Given the description of an element on the screen output the (x, y) to click on. 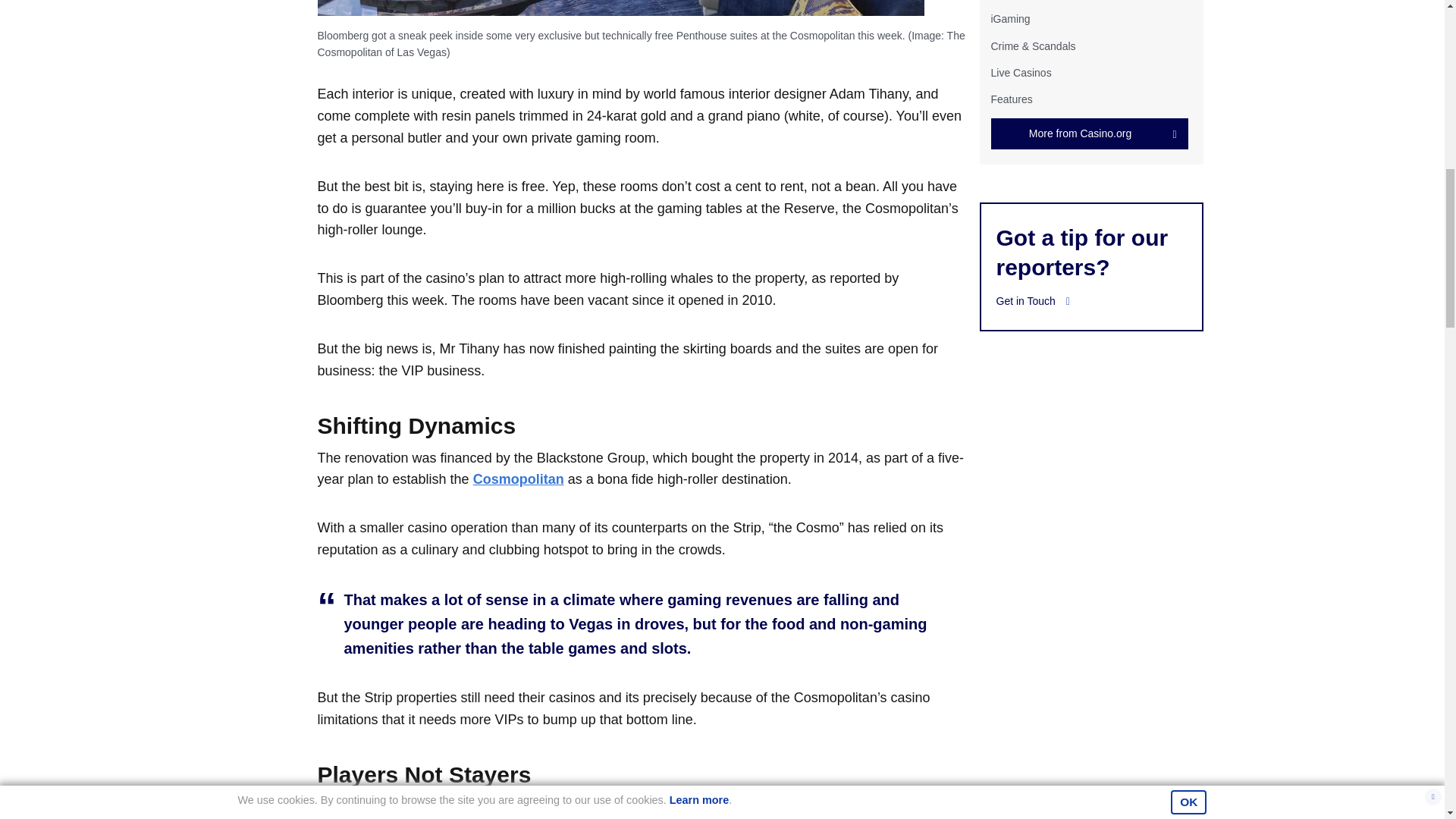
Live Casinos (1020, 72)
Cosmopolitan (518, 478)
iGaming (1009, 19)
iGaming (1009, 19)
Features (1011, 99)
